Given the description of an element on the screen output the (x, y) to click on. 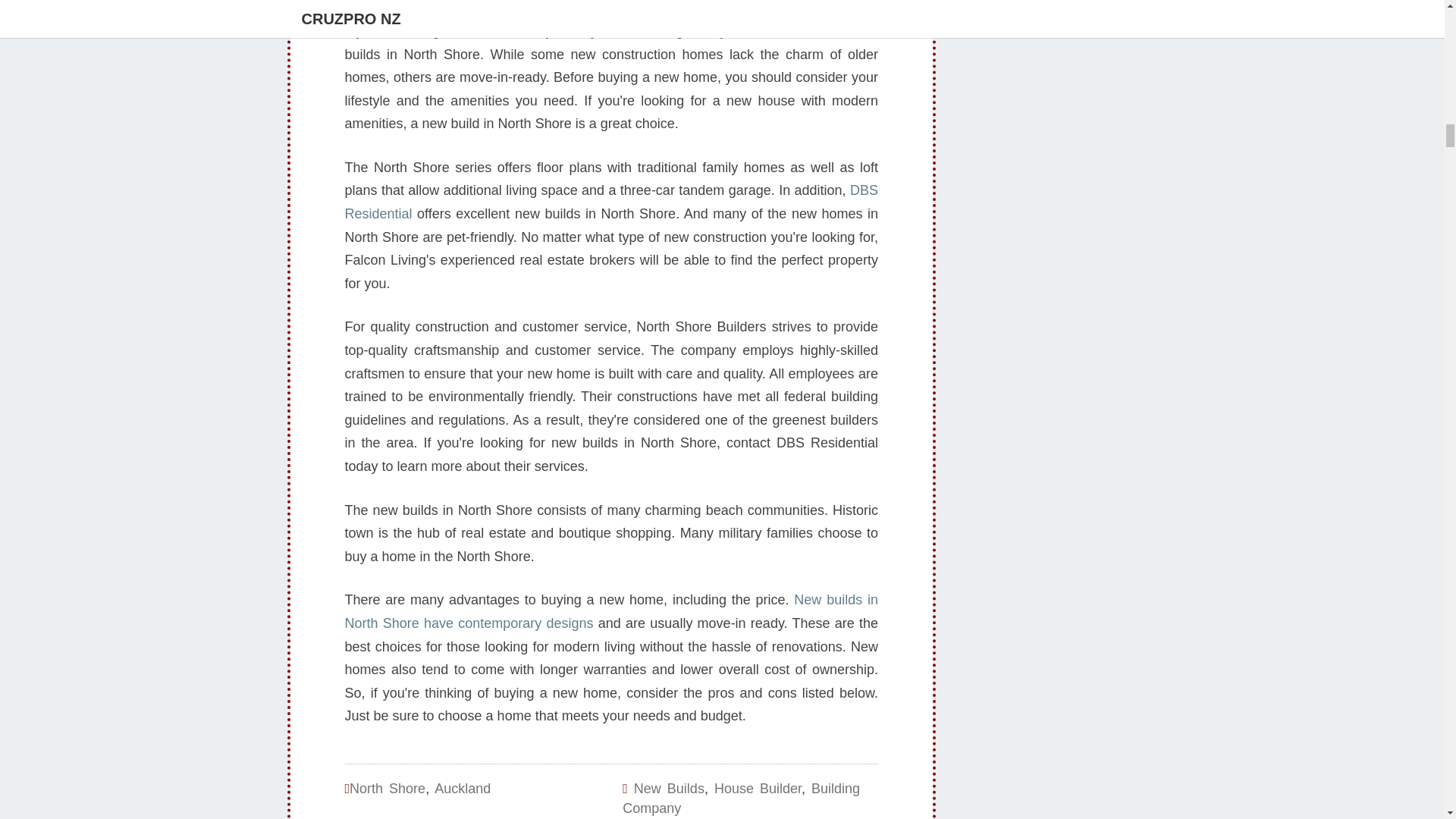
New builds in North Shore have contemporary designs (610, 611)
Auckland (461, 788)
DBS Residential (610, 201)
North Shore (387, 788)
